Given the description of an element on the screen output the (x, y) to click on. 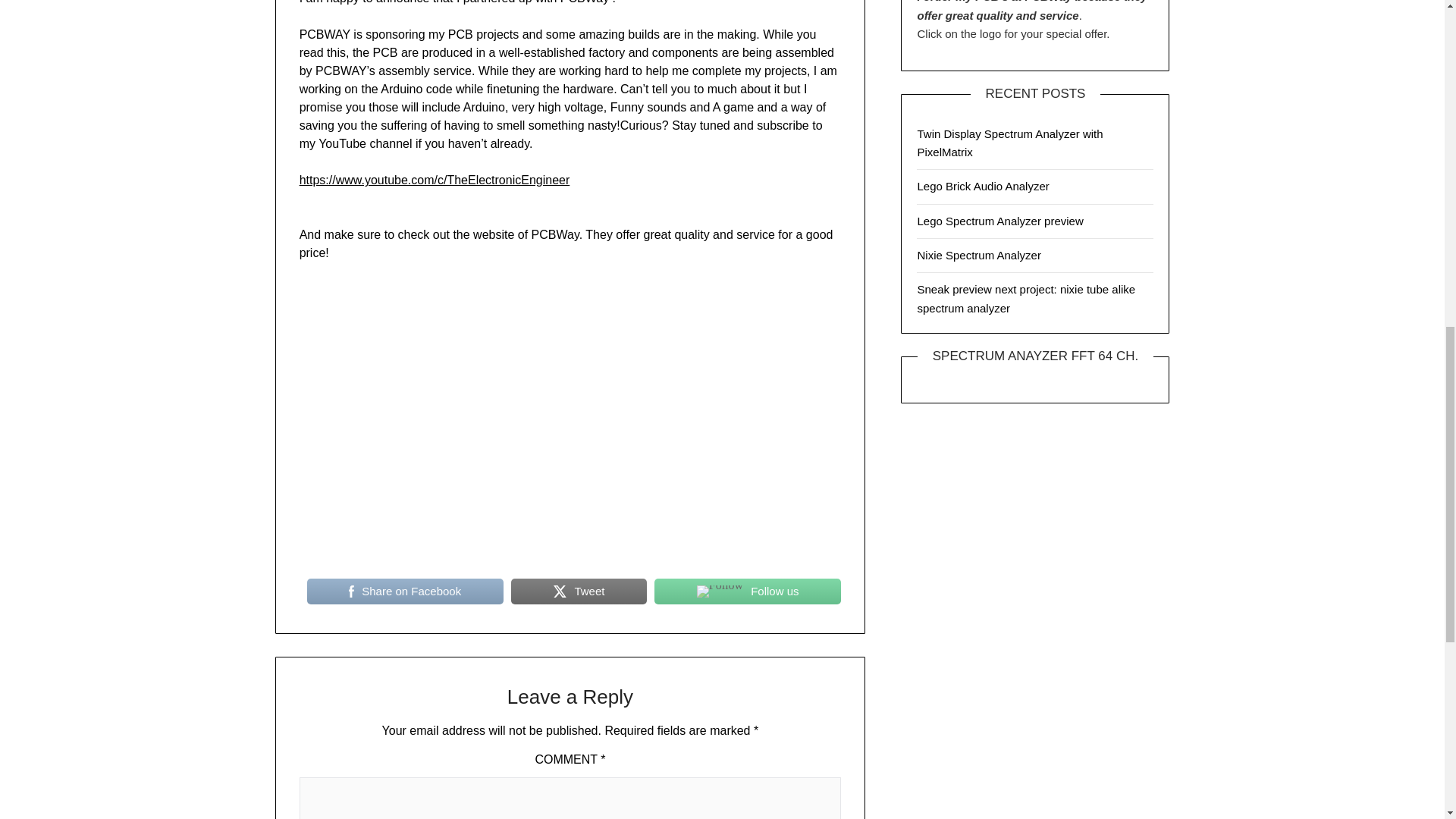
Lego Spectrum Analyzer preview (1000, 220)
Twin Display Spectrum Analyzer with PixelMatrix (1009, 142)
Nixie Spectrum Analyzer (979, 254)
Follow us (747, 591)
Share on Facebook (405, 591)
Tweet (578, 591)
Lego Brick Audio Analyzer (982, 185)
